Given the description of an element on the screen output the (x, y) to click on. 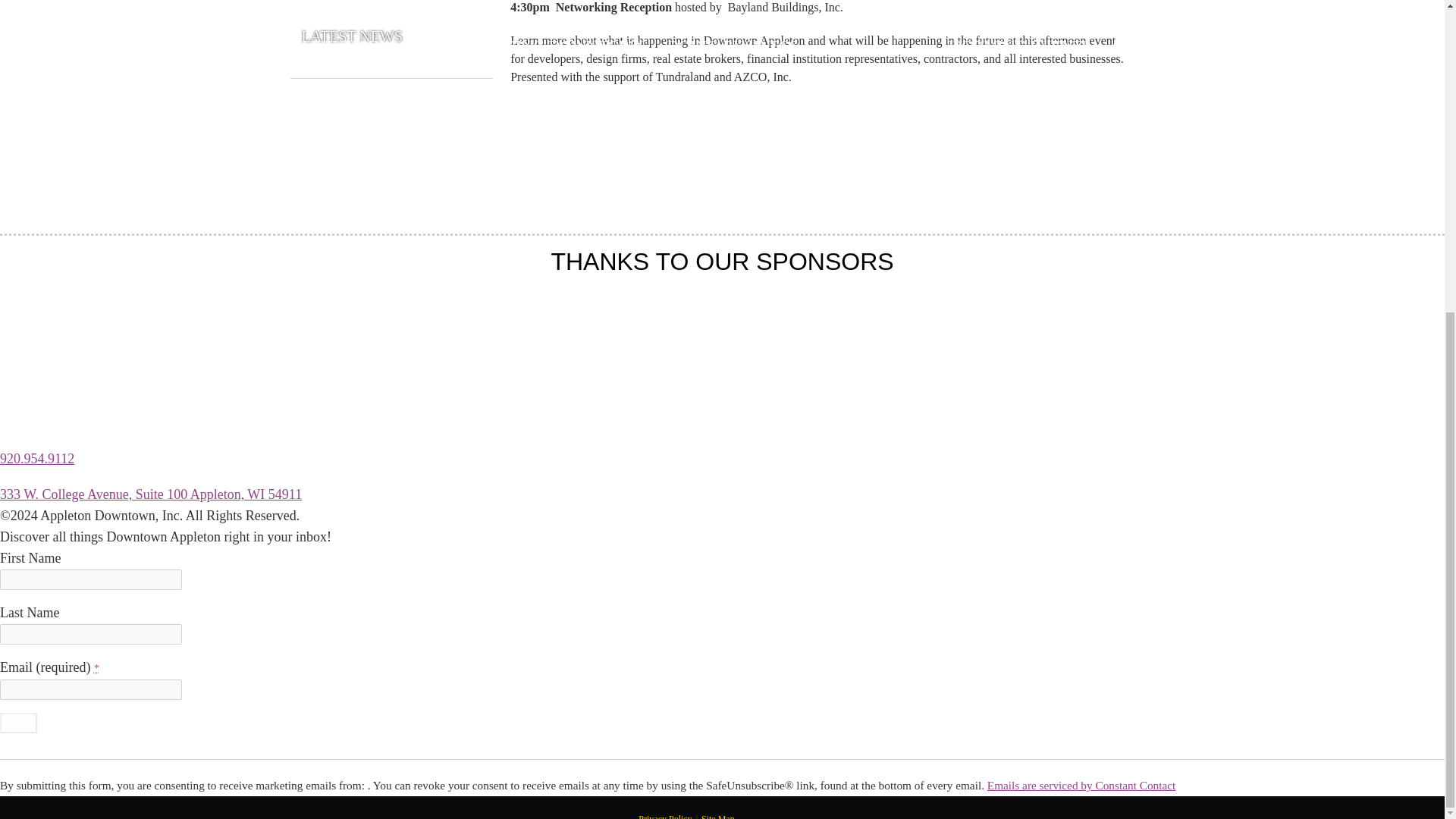
GO! (18, 722)
